Given the description of an element on the screen output the (x, y) to click on. 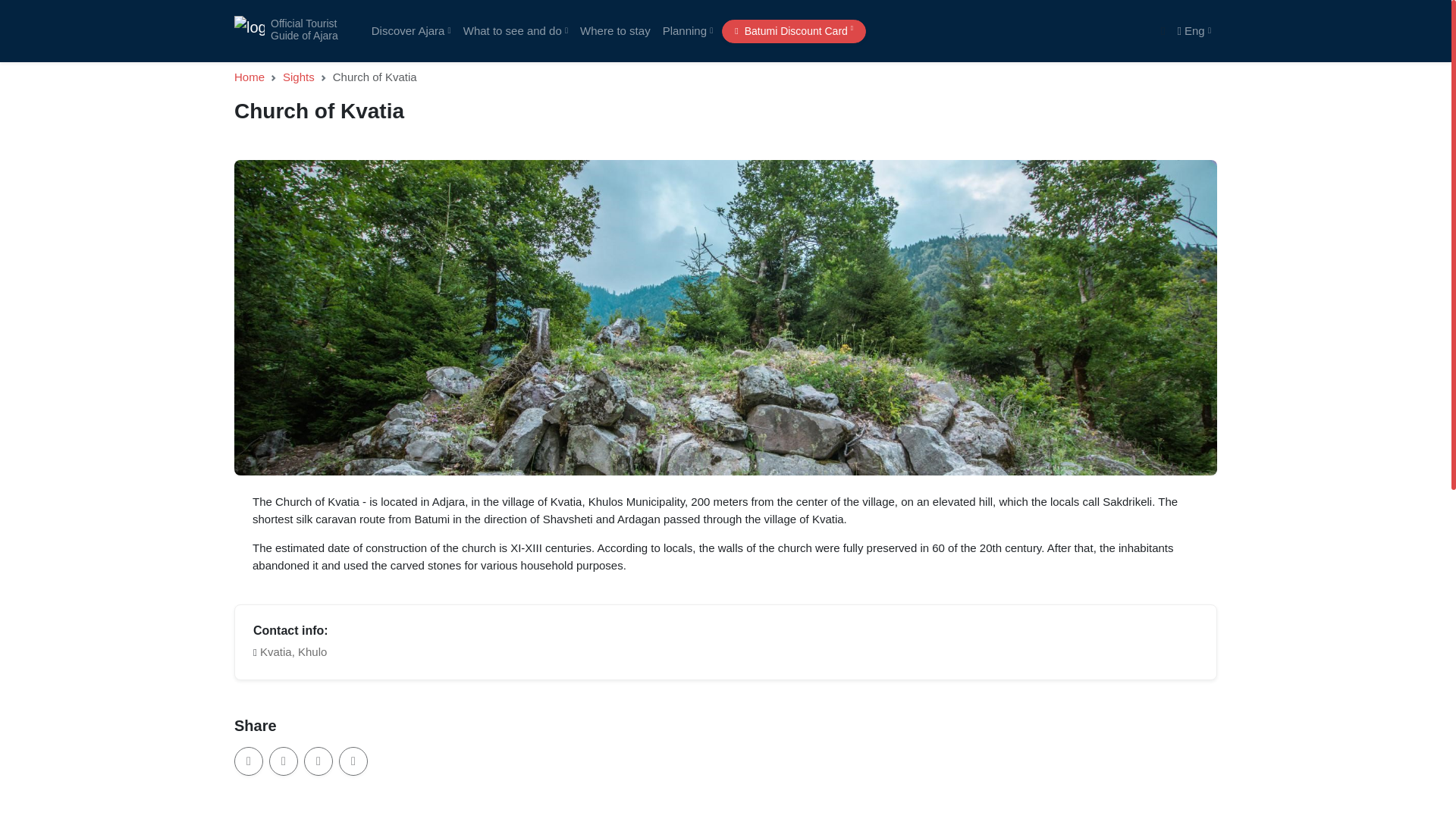
Send to email (285, 30)
Copy link (283, 760)
Where to stay (248, 760)
What to see and do (614, 30)
Discover Ajara (515, 30)
Eng (411, 30)
Planning (1193, 30)
Batumi Discount Card (687, 30)
Share on Facebook (794, 31)
Send to WhatsApp (318, 760)
